Given the description of an element on the screen output the (x, y) to click on. 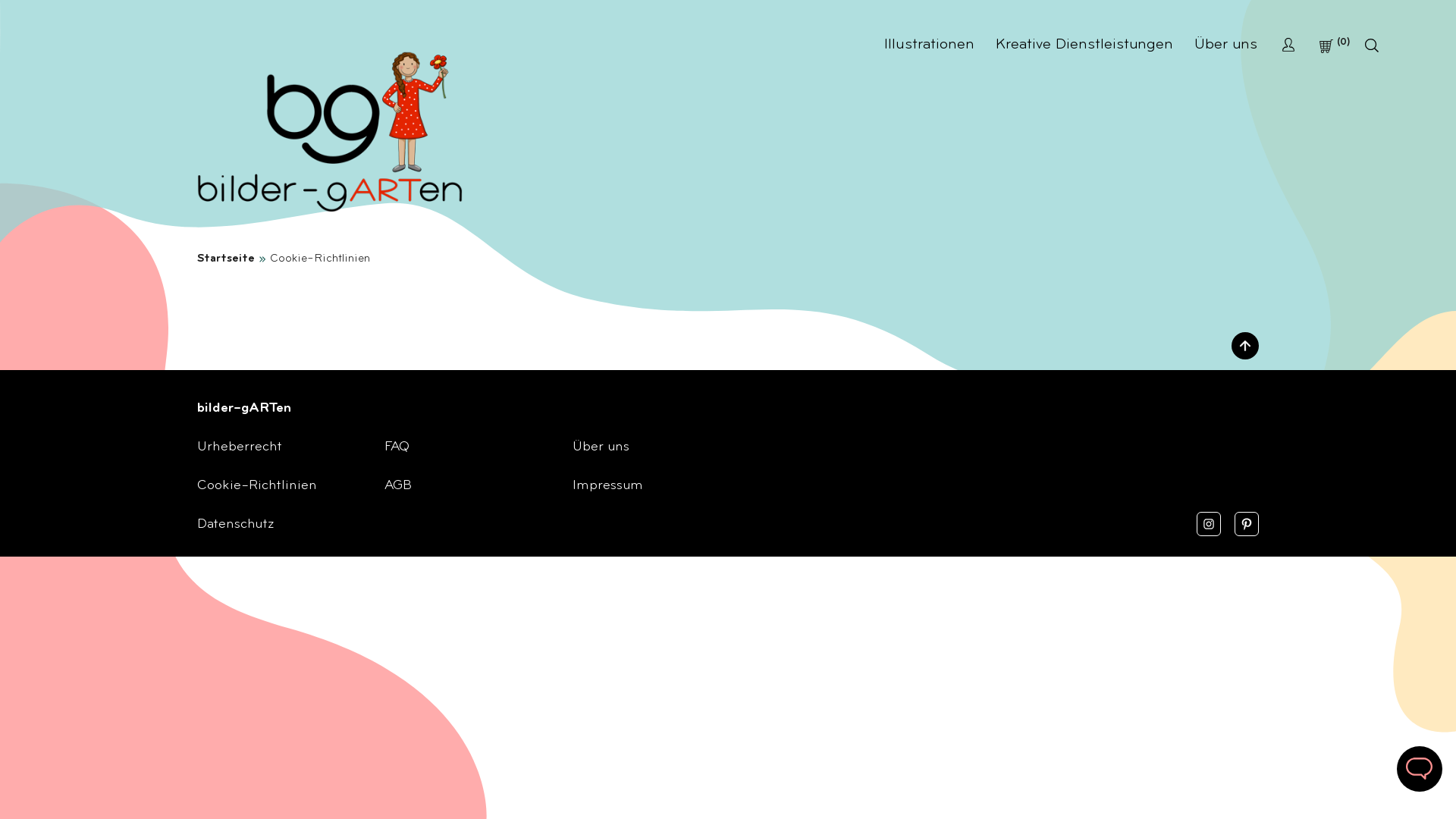
Instagram Element type: text (1208, 523)
Kreative Dienstleistungen Element type: text (1084, 45)
Urheberrecht Element type: text (239, 447)
FAQ Element type: text (396, 447)
0 Element type: text (1334, 46)
Schreib uns Element type: text (1419, 768)
Search Element type: text (1374, 45)
AGB Element type: text (397, 486)
Nach oben Element type: text (1244, 345)
Datenschutz Element type: text (235, 524)
Impressum Element type: text (607, 486)
Illustrationen Element type: text (929, 45)
Startseite Element type: text (225, 259)
Pinterest Element type: text (1246, 523)
